Given the description of an element on the screen output the (x, y) to click on. 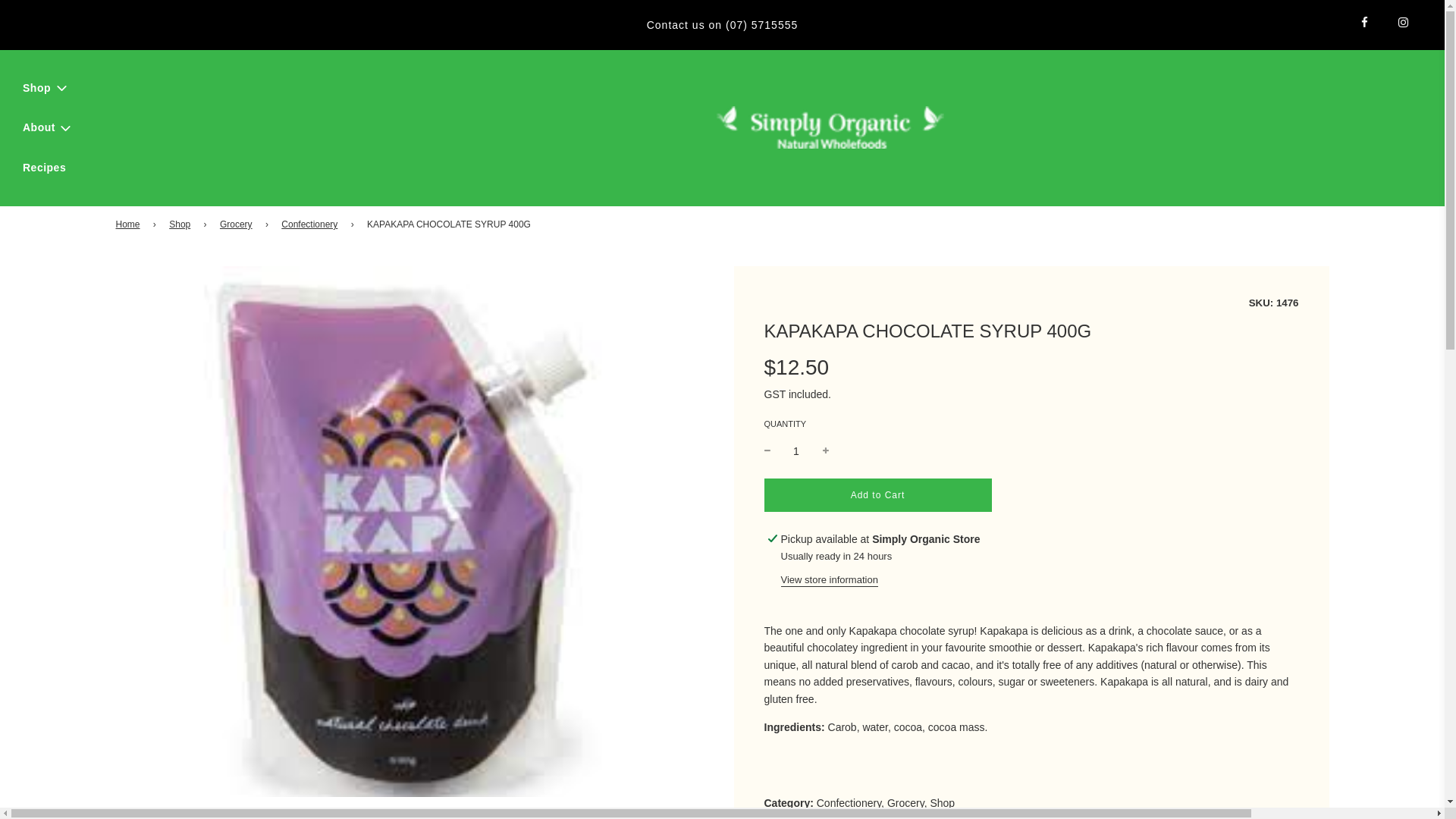
1 (796, 450)
Back to the frontpage (129, 224)
